Given the description of an element on the screen output the (x, y) to click on. 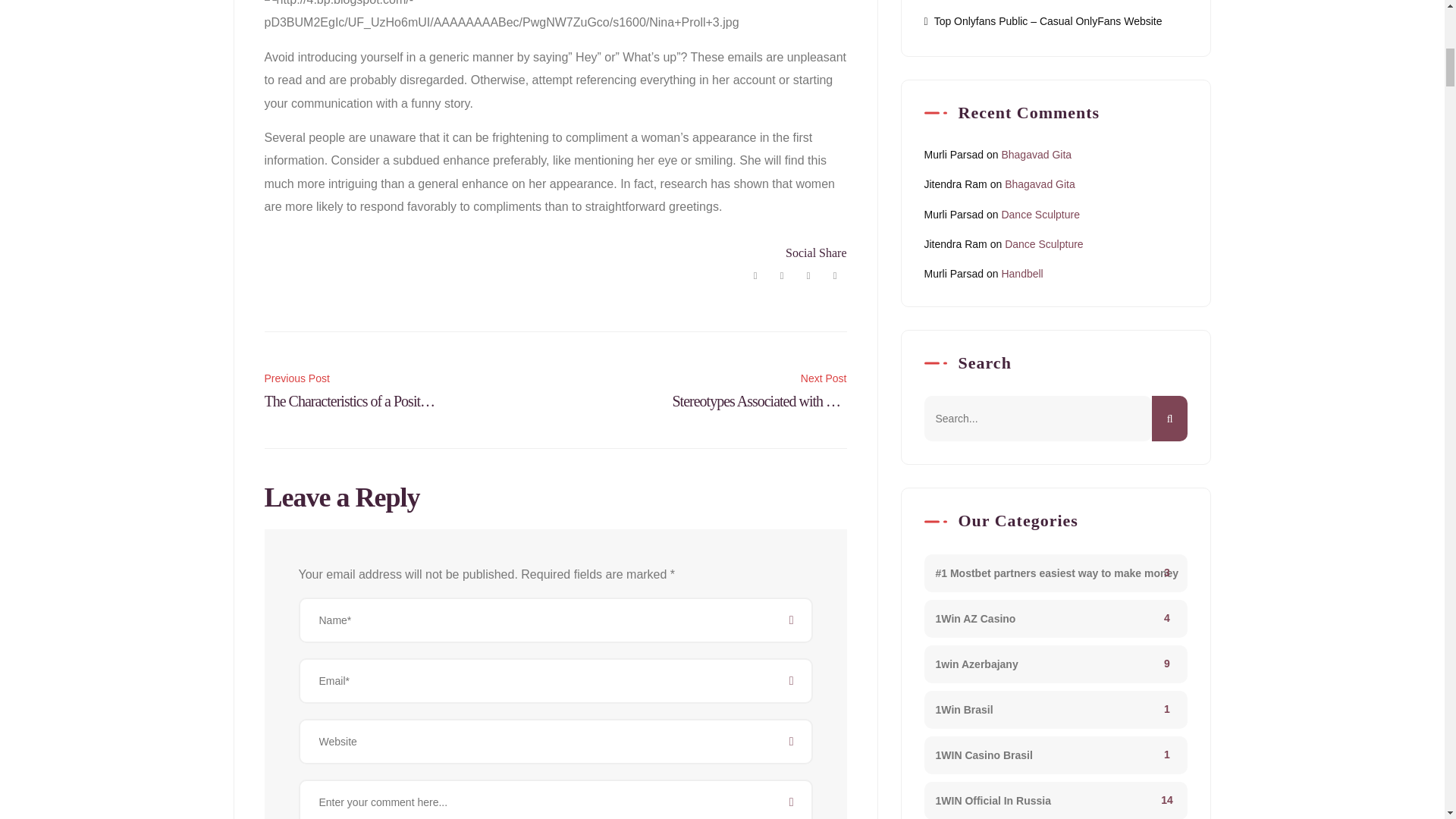
Stereotypes Associated with Bulgarians (746, 389)
The Characteristics of a Positive Partnership (350, 389)
